Given the description of an element on the screen output the (x, y) to click on. 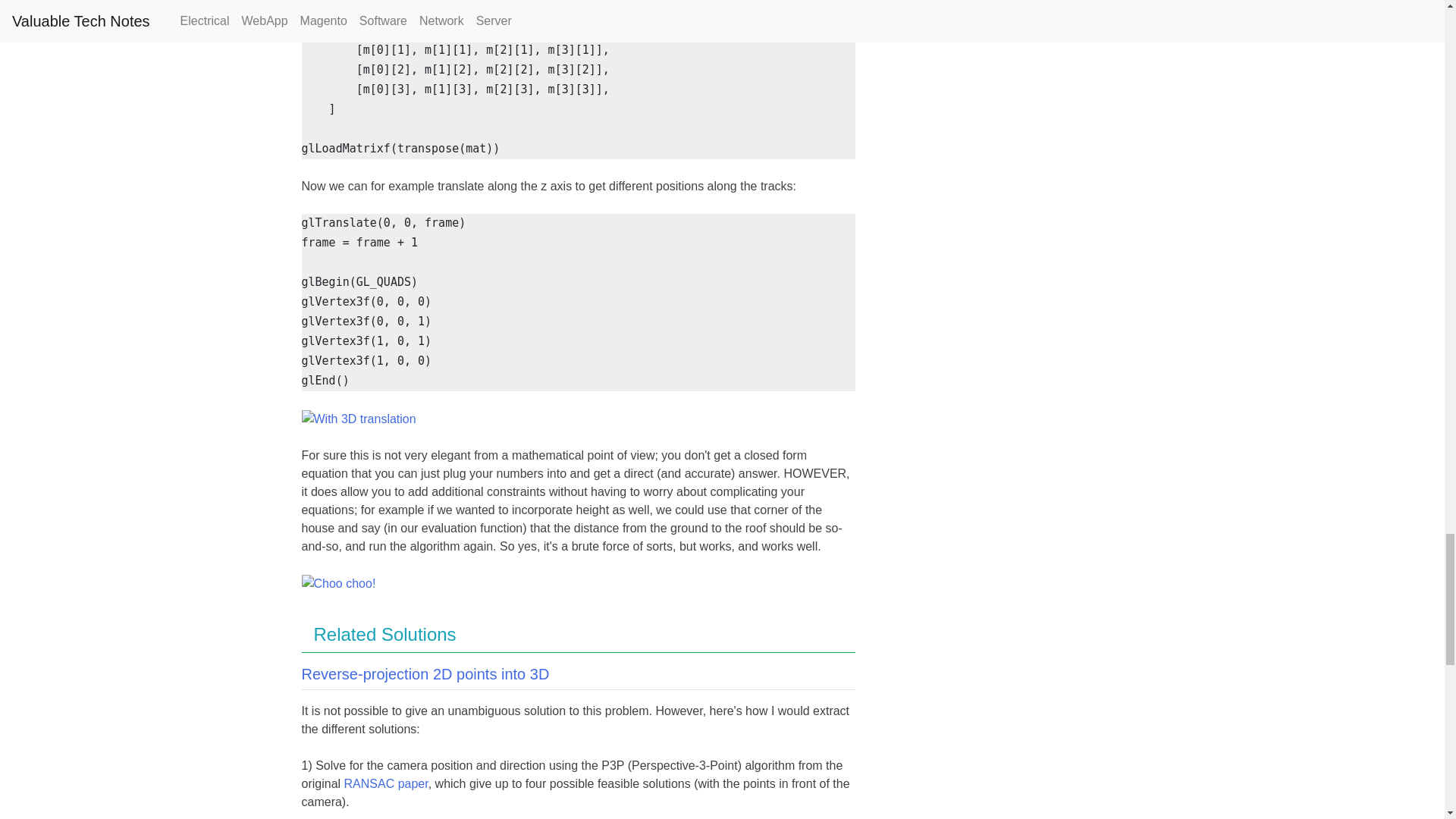
RANSAC paper (385, 783)
Reverse-projection 2D points into 3D (425, 673)
